Given the description of an element on the screen output the (x, y) to click on. 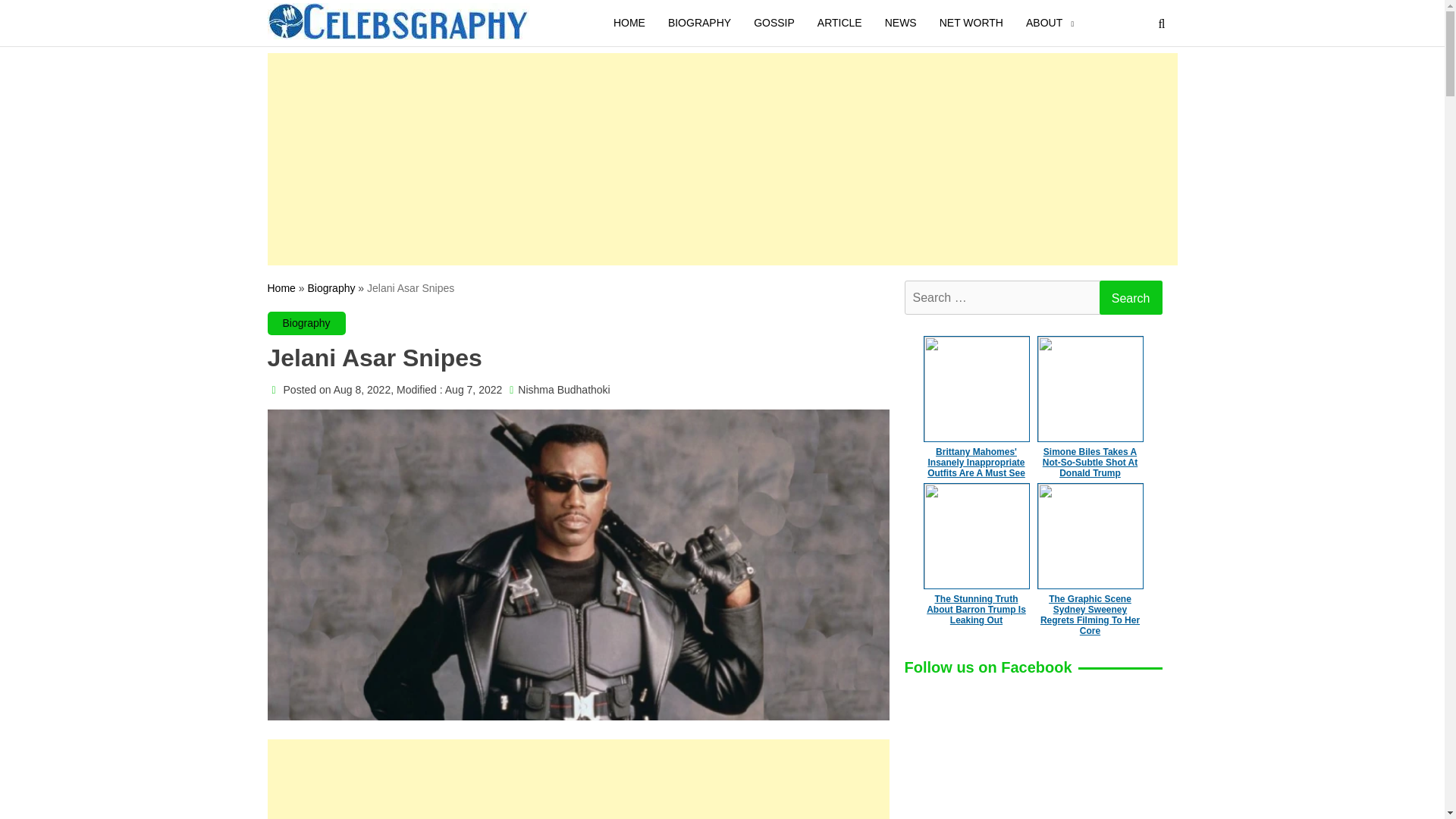
HOME (629, 22)
NET WORTH (971, 22)
Search (1130, 297)
Biography (331, 287)
ARTICLE (839, 22)
Advertisement (577, 782)
Search (1130, 297)
Biography (305, 322)
NEWS (900, 22)
ABOUT (1044, 22)
GOSSIP (774, 22)
Home (280, 287)
BIOGRAPHY (699, 22)
